Given the description of an element on the screen output the (x, y) to click on. 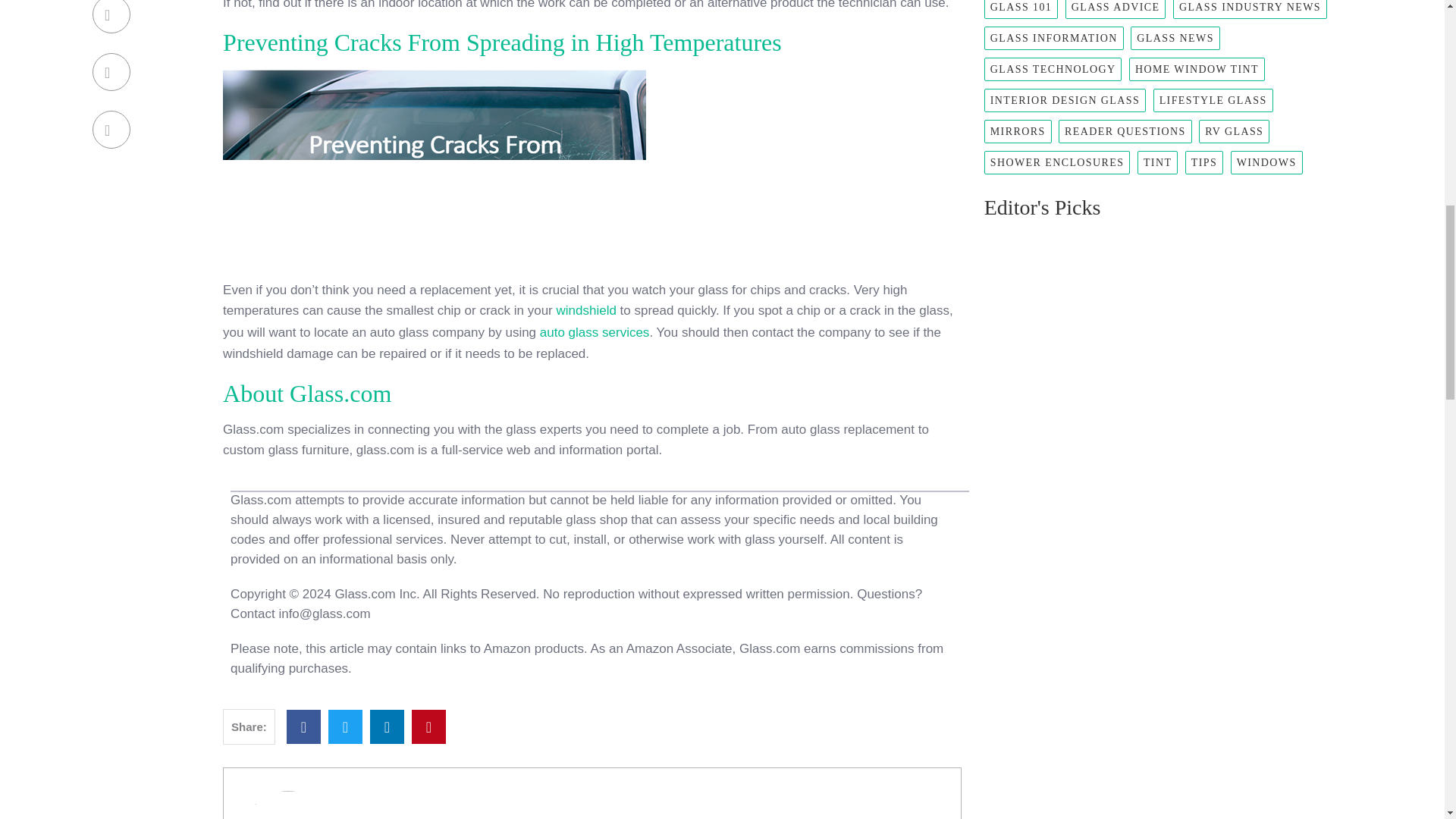
windshield (585, 310)
auto glass services (594, 332)
windshield (585, 310)
